Given the description of an element on the screen output the (x, y) to click on. 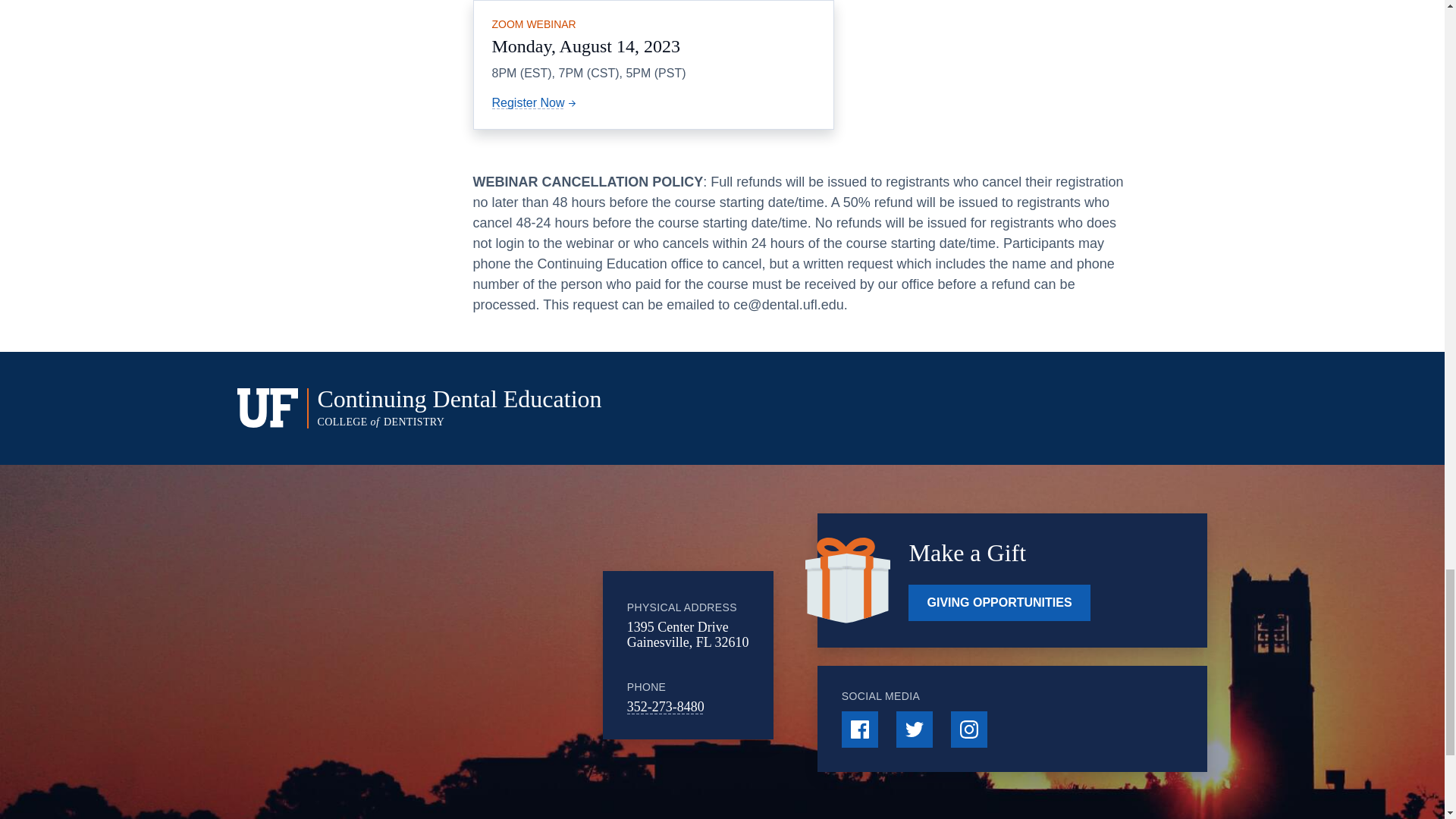
Google Maps Embed (478, 654)
352-273-8480 (665, 706)
Register Now (535, 102)
